Given the description of an element on the screen output the (x, y) to click on. 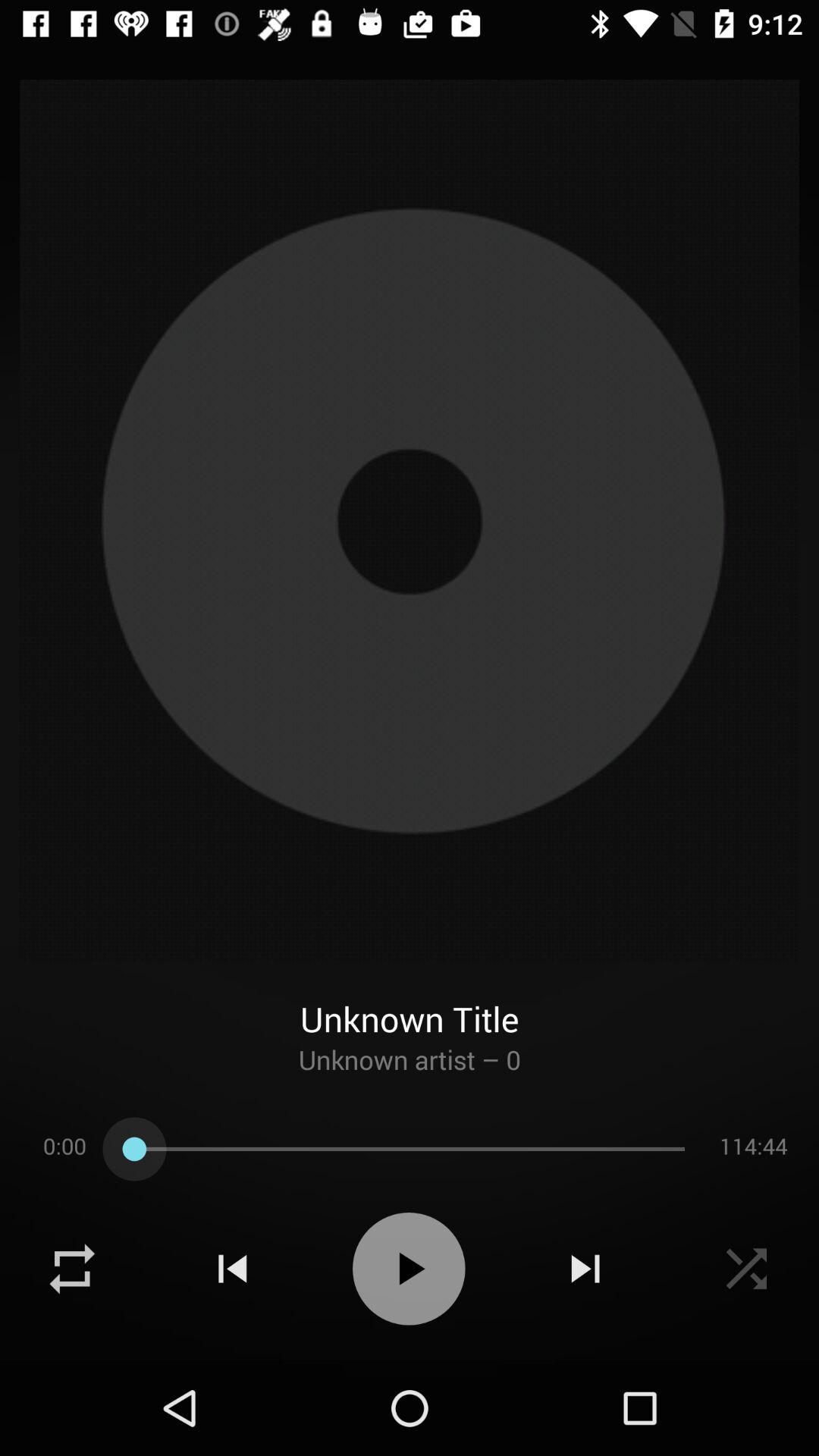
click on the next button (585, 1268)
